Given the description of an element on the screen output the (x, y) to click on. 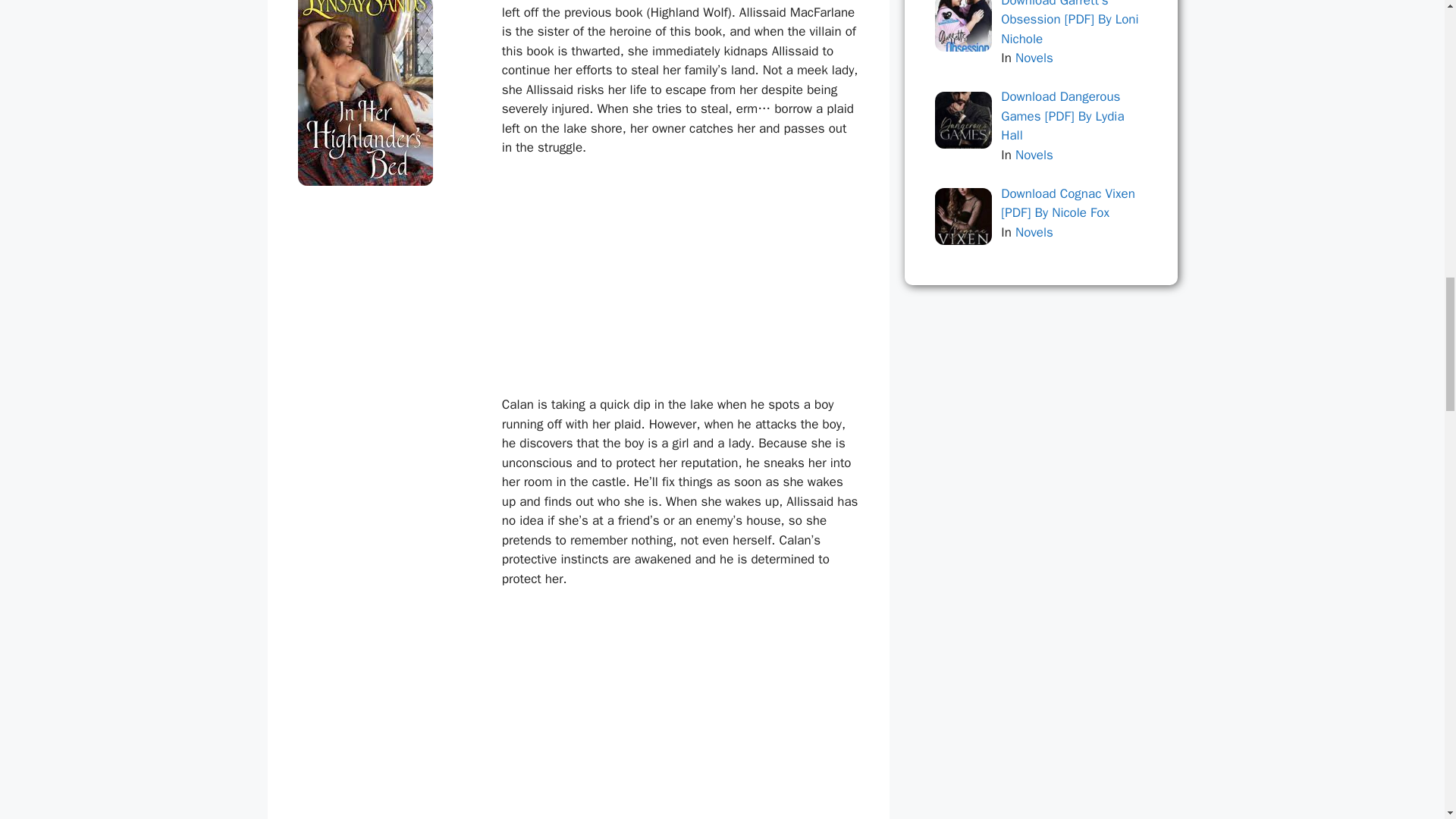
Advertisement (676, 282)
Advertisement (676, 713)
